Given the description of an element on the screen output the (x, y) to click on. 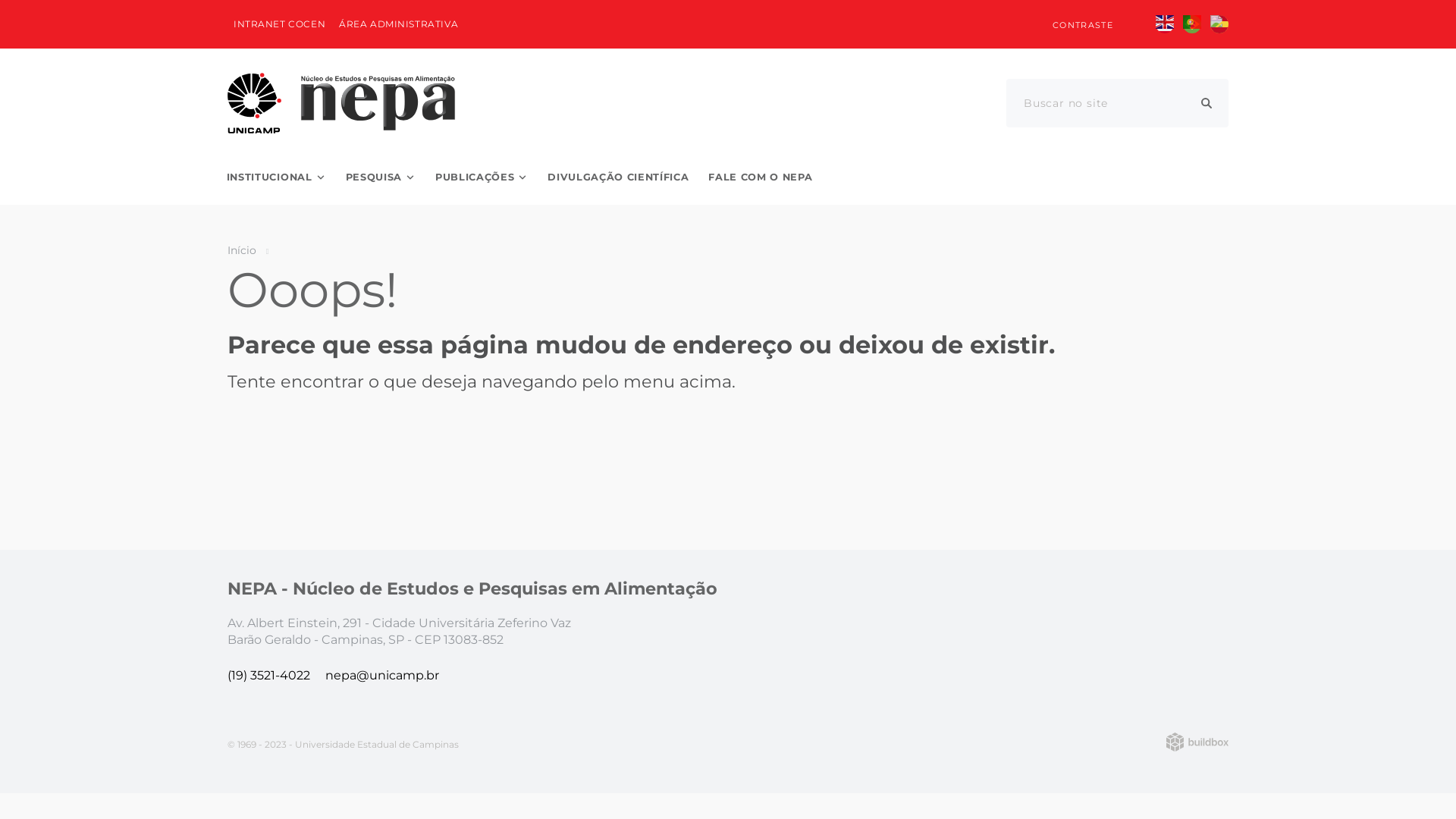
PESQUISA Element type: text (380, 177)
Buscar Element type: text (1206, 103)
(19) 3521-4022 Element type: text (268, 675)
Aumentar fonte Element type: text (981, 24)
INTRANET COCEN Element type: text (279, 24)
CONTRASTE Element type: text (1073, 24)
nepa@unicamp.br Element type: text (382, 675)
Portuguese Element type: hover (1192, 24)
FALE COM O NEPA Element type: text (760, 177)
English Element type: hover (1164, 24)
Diminuir fonte Element type: text (1012, 24)
Spanish Element type: hover (1219, 24)
INSTITUCIONAL Element type: text (276, 177)
